Given the description of an element on the screen output the (x, y) to click on. 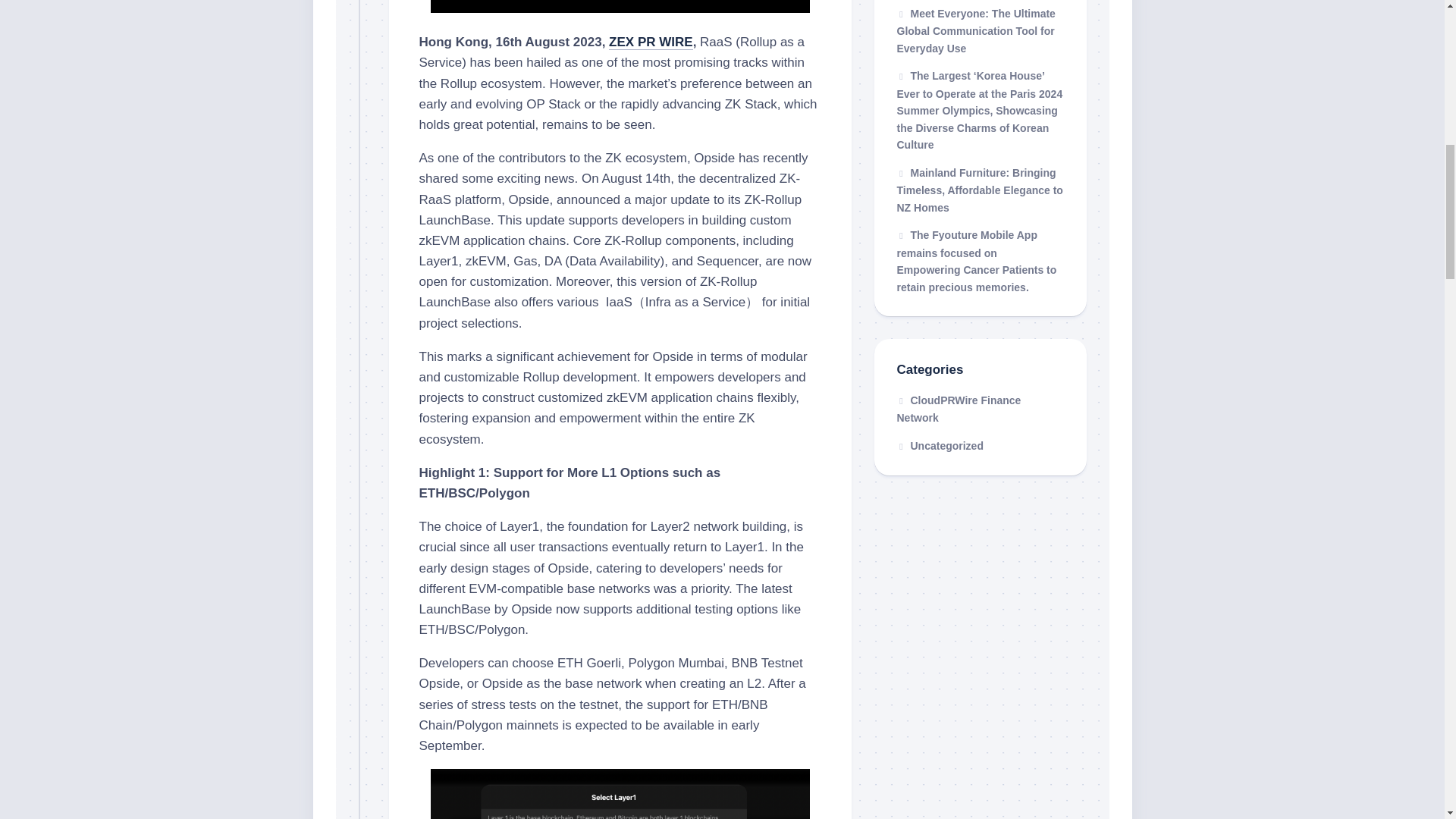
CloudPRWire Finance Network (958, 409)
Uncategorized (939, 445)
ZEX PR WIRE (650, 42)
